Given the description of an element on the screen output the (x, y) to click on. 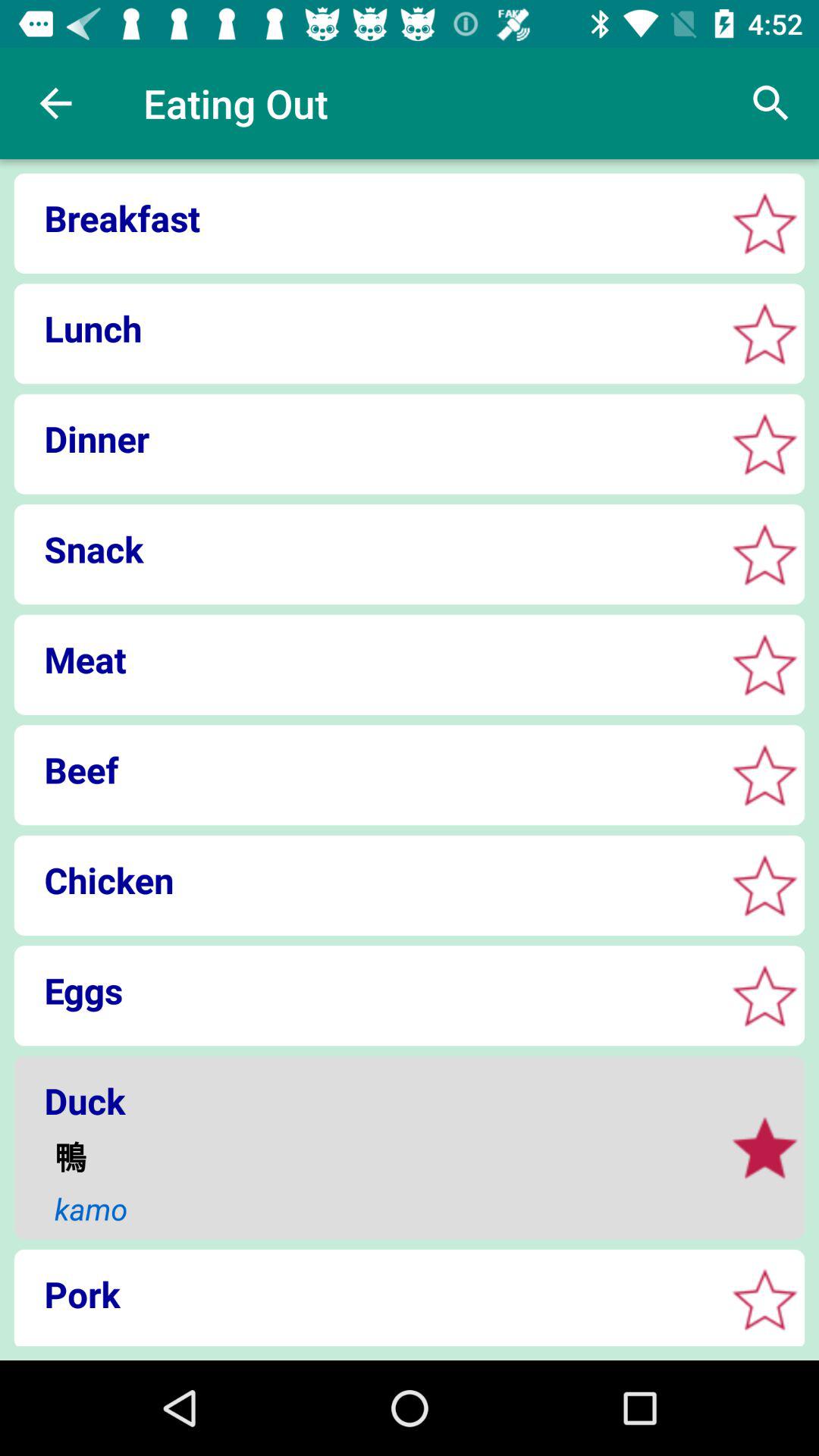
favorite symbol (764, 444)
